Given the description of an element on the screen output the (x, y) to click on. 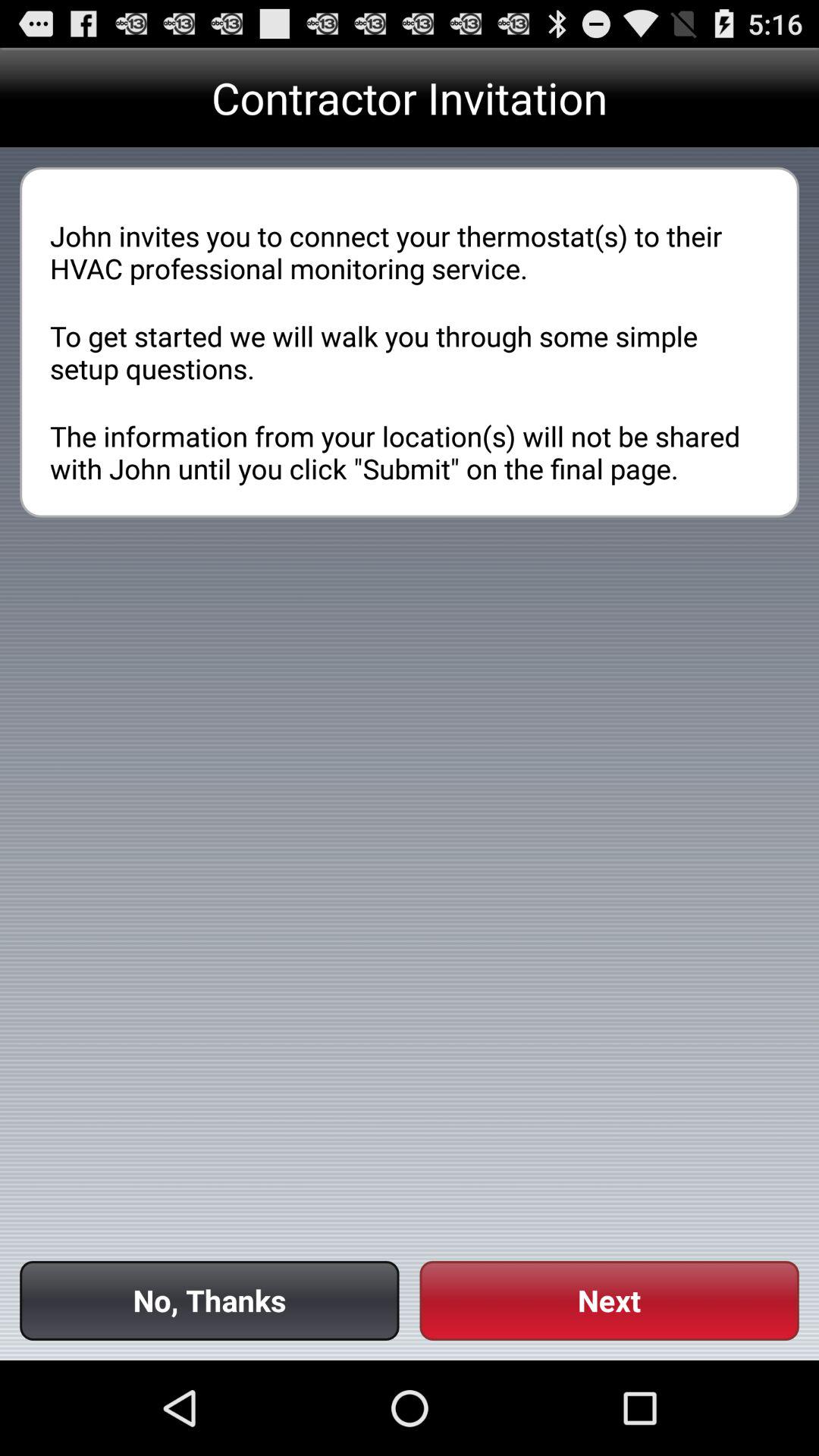
press the button next to the next (209, 1300)
